Given the description of an element on the screen output the (x, y) to click on. 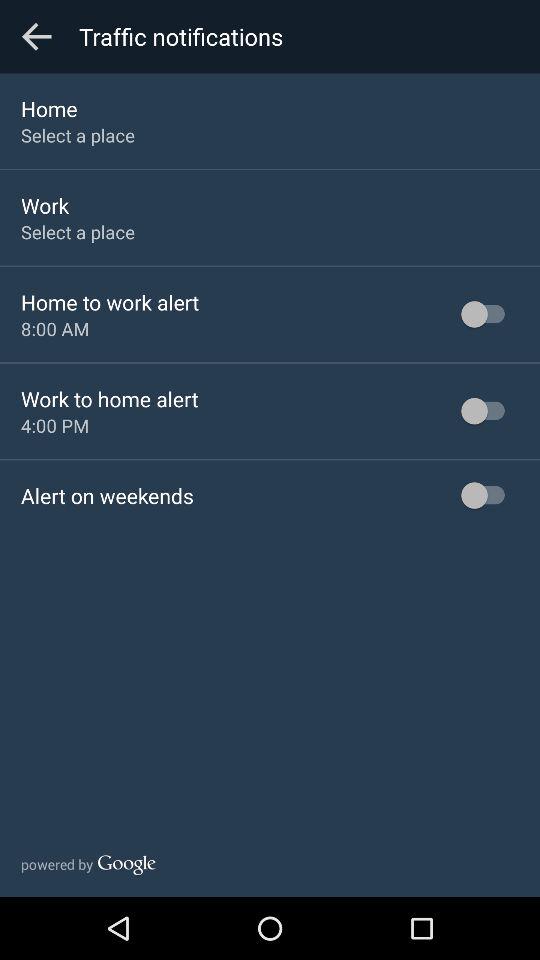
launch the item above the home app (36, 36)
